Given the description of an element on the screen output the (x, y) to click on. 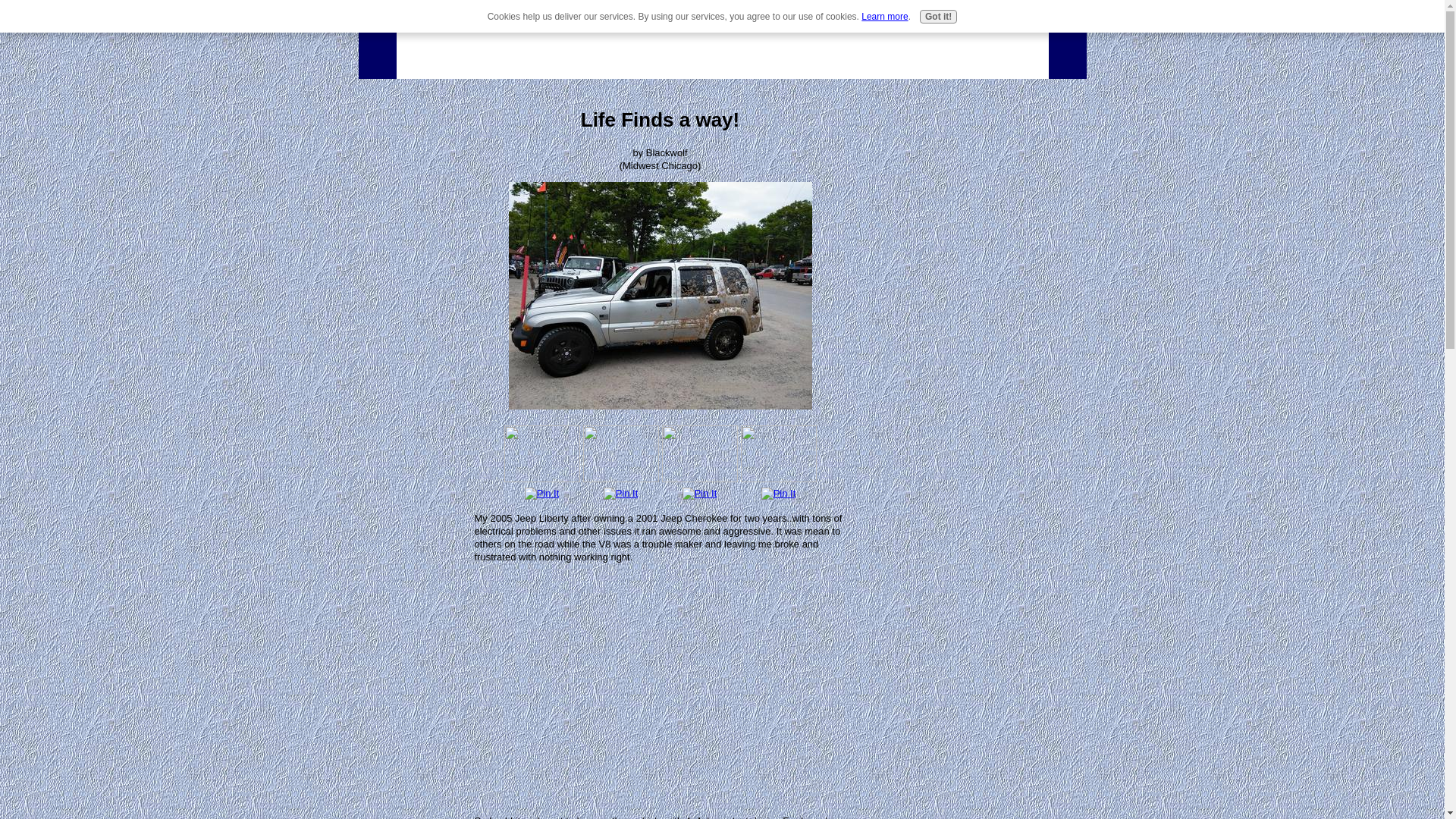
Pin It (778, 493)
Learn more (884, 16)
Pin It (699, 493)
Pin It (541, 493)
Got it! (938, 16)
Pin It (621, 493)
